Given the description of an element on the screen output the (x, y) to click on. 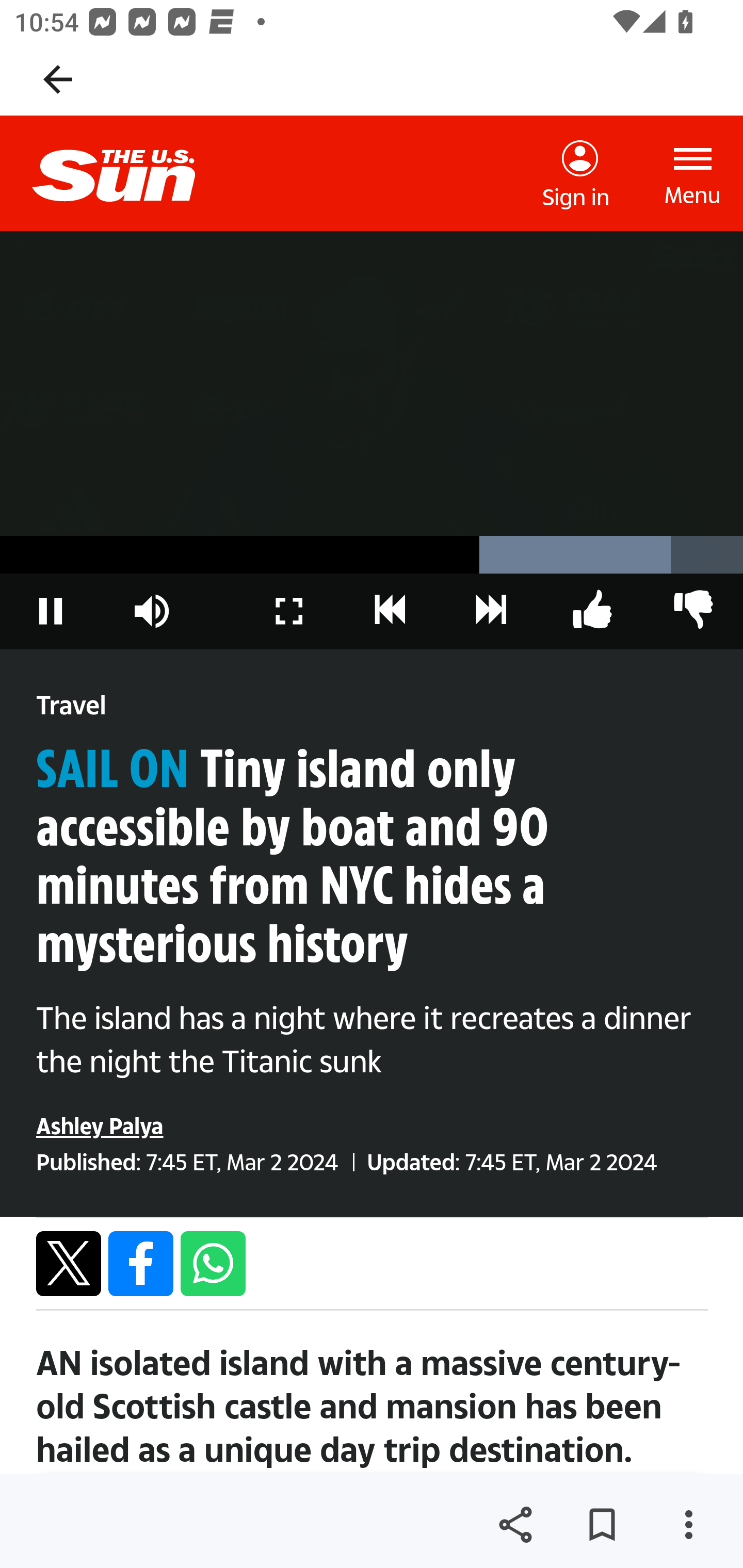
Navigate up (57, 79)
Sign in to The Sun Sign in (576, 173)
The US Sun homepage The Sun (129, 172)
Open Navigation Menu (693, 172)
Pause (51, 610)
Mute (152, 610)
Fullscreen (289, 610)
C (390, 610)
D (490, 610)
B (592, 610)
A (692, 610)
Travel (71, 705)
Posts by Ashley Palya Ashley Palya (100, 1125)
Share by twitter (69, 1262)
Share by facebook (141, 1262)
Share by whatsapp (212, 1262)
Share (514, 1524)
Save for later (601, 1524)
More options (688, 1524)
